Given the description of an element on the screen output the (x, y) to click on. 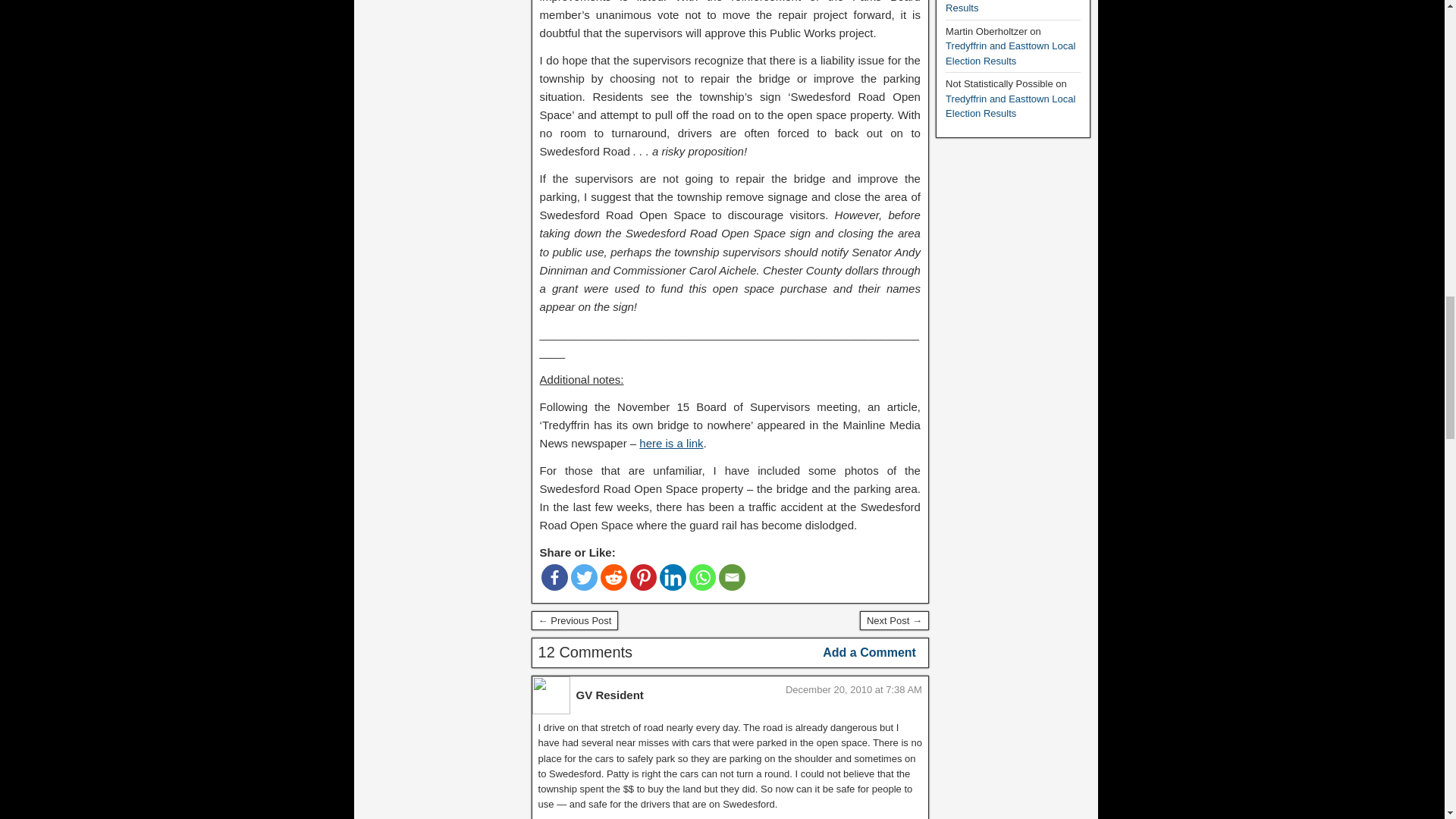
Linkedin (672, 577)
here is a link (671, 442)
Pinterest (643, 577)
Whatsapp (702, 577)
Mainline Media News article (671, 442)
Facebook (554, 577)
Reddit (613, 577)
Email (732, 577)
